Given the description of an element on the screen output the (x, y) to click on. 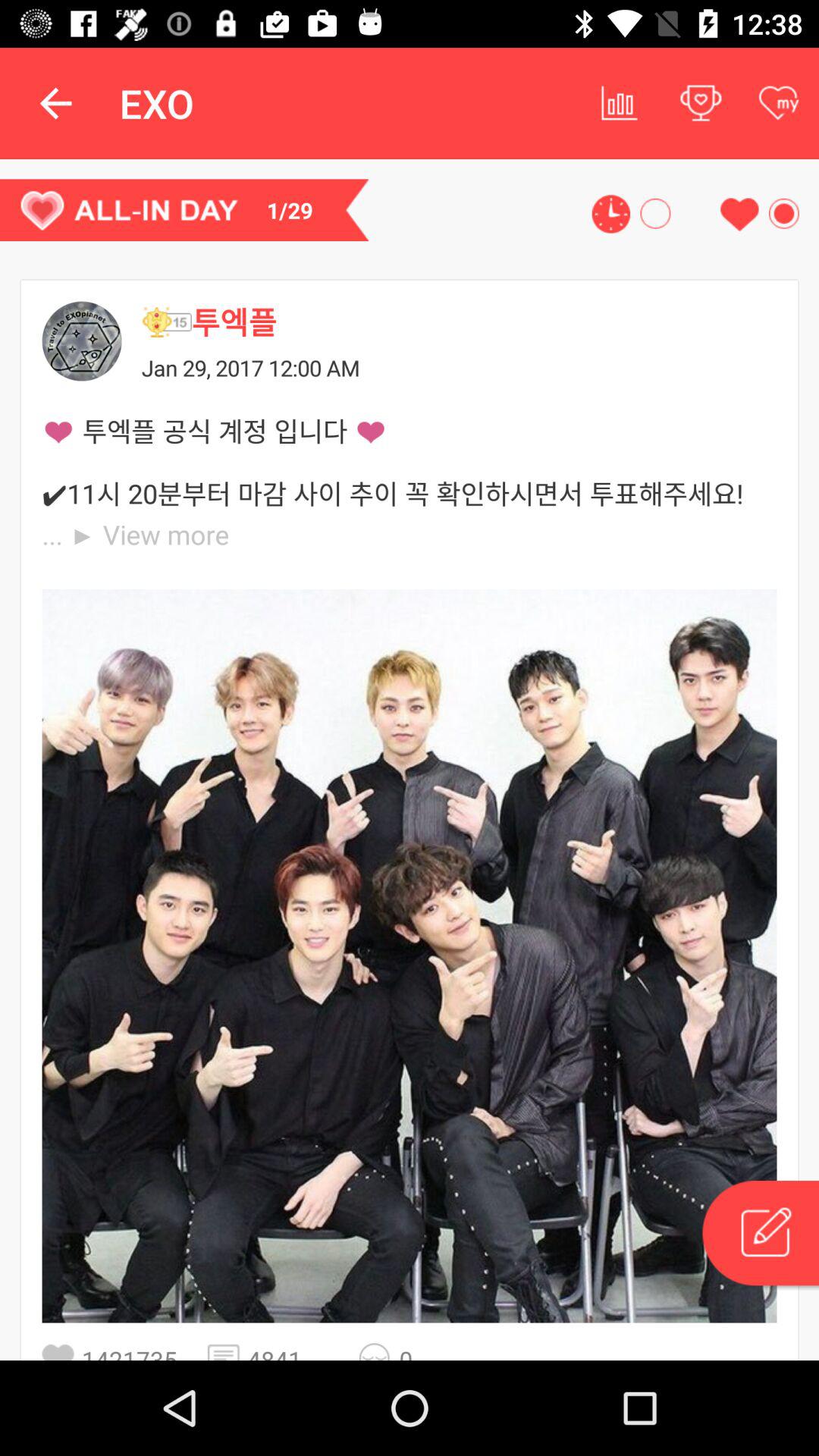
open the icon above jan 29 2017 icon (483, 321)
